Given the description of an element on the screen output the (x, y) to click on. 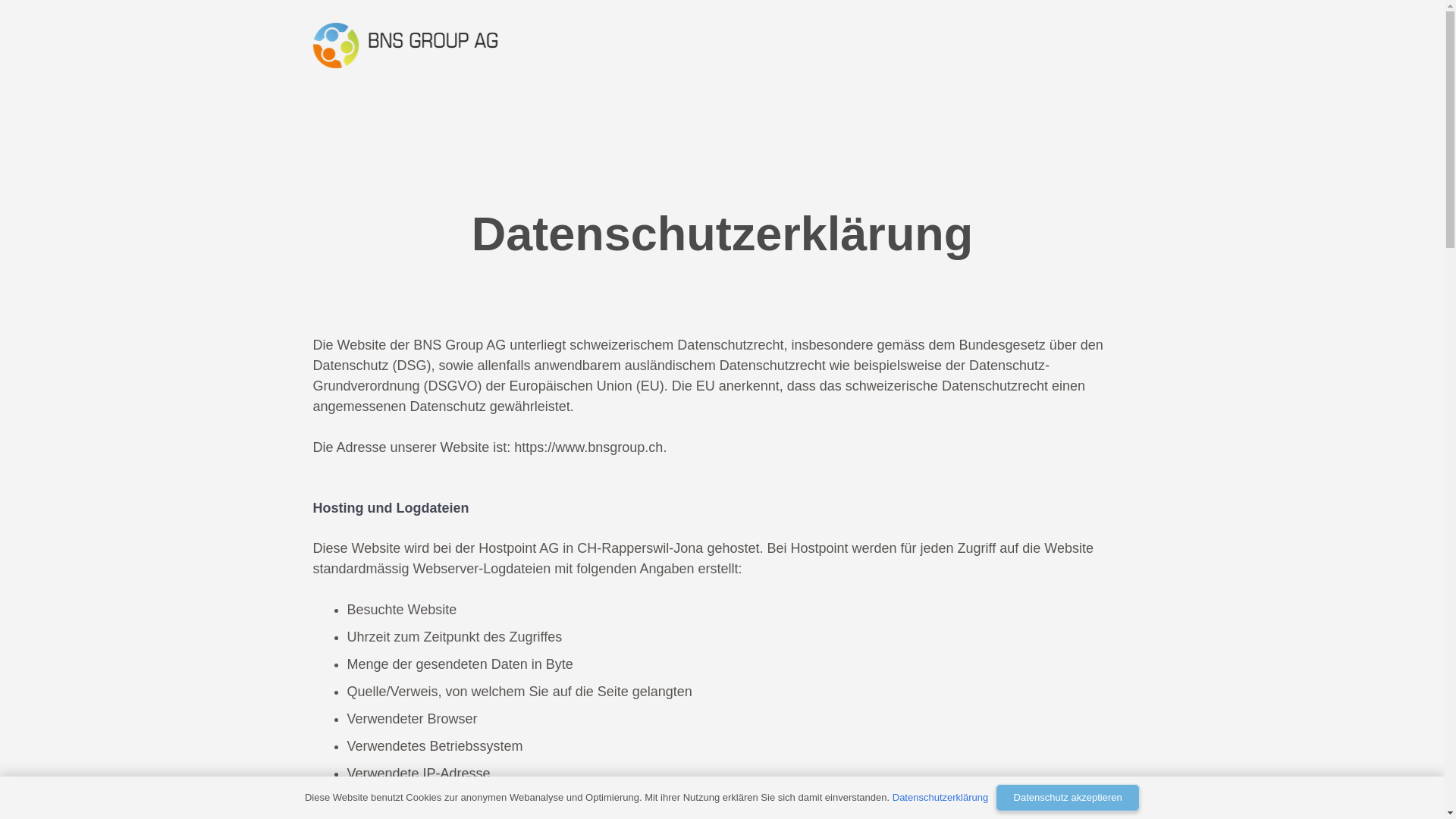
Datenschutz akzeptieren Element type: text (1067, 797)
